Given the description of an element on the screen output the (x, y) to click on. 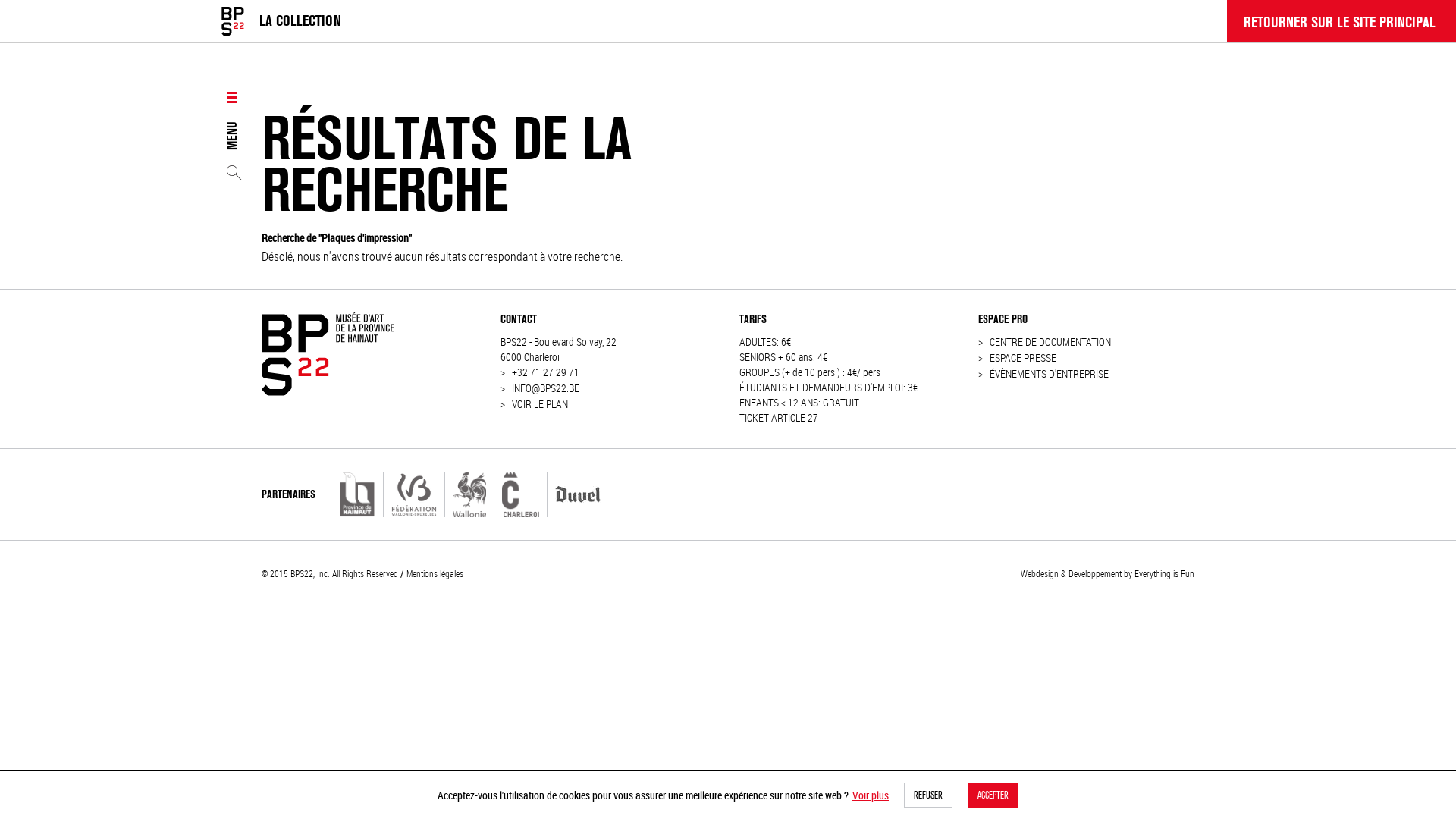
ESPACE PRESSE Element type: text (1022, 358)
CENTRE DE DOCUMENTATION Element type: text (1049, 342)
MENU Element type: text (231, 119)
VOIR LE PLAN Element type: text (539, 404)
Voir plus Element type: text (870, 794)
REFUSER Element type: text (927, 794)
Everything is Fun Element type: text (1164, 573)
ACCEPTER Element type: text (992, 794)
INFO@BPS22.BE Element type: text (545, 388)
+32 71 27 29 71 Element type: text (545, 372)
LA COLLECTION Element type: text (300, 21)
